Given the description of an element on the screen output the (x, y) to click on. 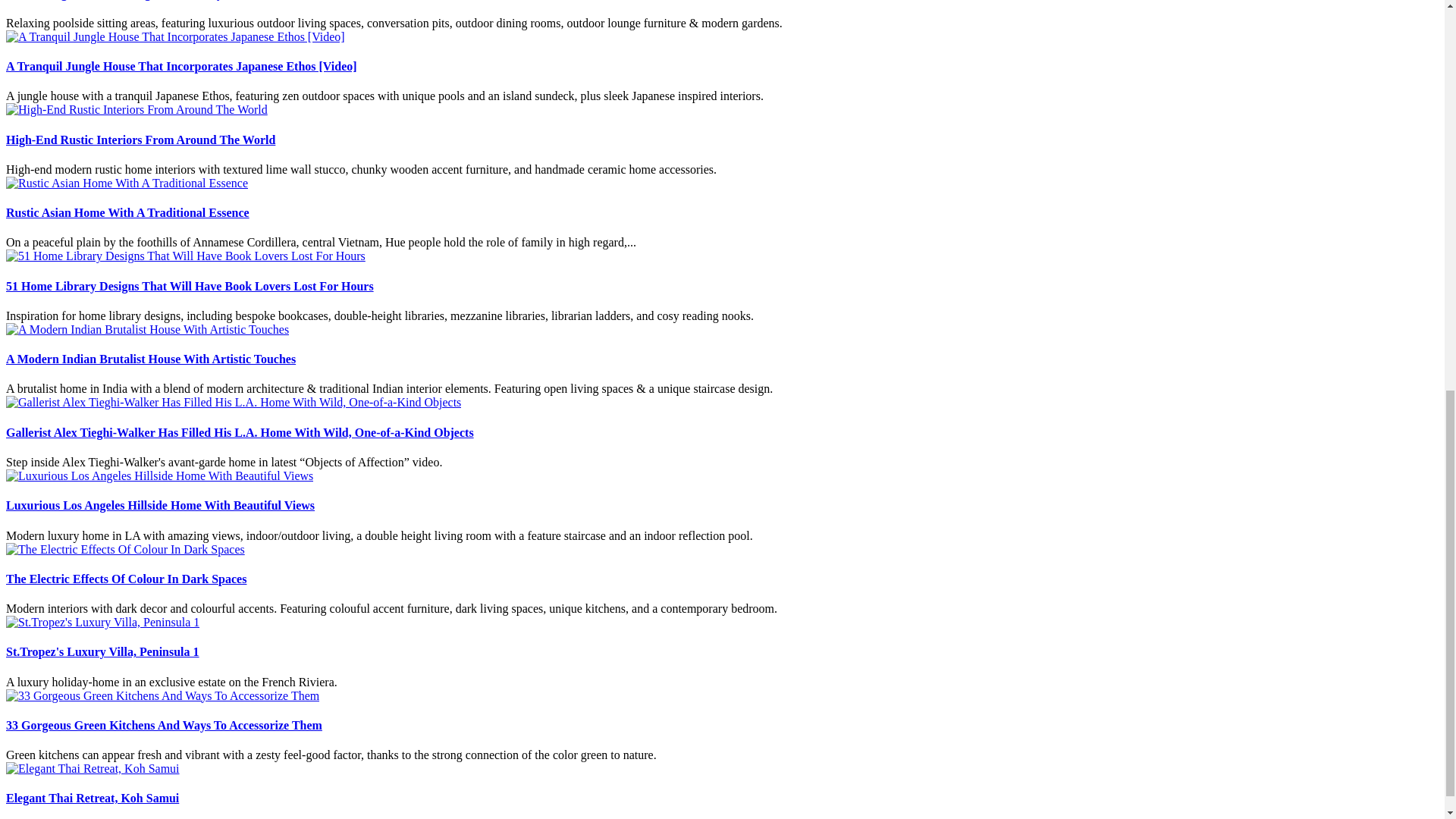
The Electric Effects Of Colour In Dark Spaces (124, 549)
Rustic Asian Home With A Traditional Essence (126, 212)
Luxurious Los Angeles Hillside Home With Beautiful Views (159, 504)
Rustic Asian Home With A Traditional Essence (126, 212)
High-End Rustic Interiors From Around The World (140, 139)
High-End Rustic Interiors From Around The World (140, 139)
High-End Rustic Interiors From Around The World (136, 109)
Luxurious Los Angeles Hillside Home With Beautiful Views (159, 475)
The Electric Effects Of Colour In Dark Spaces (125, 578)
A Modern Indian Brutalist House With Artistic Touches (150, 358)
